Given the description of an element on the screen output the (x, y) to click on. 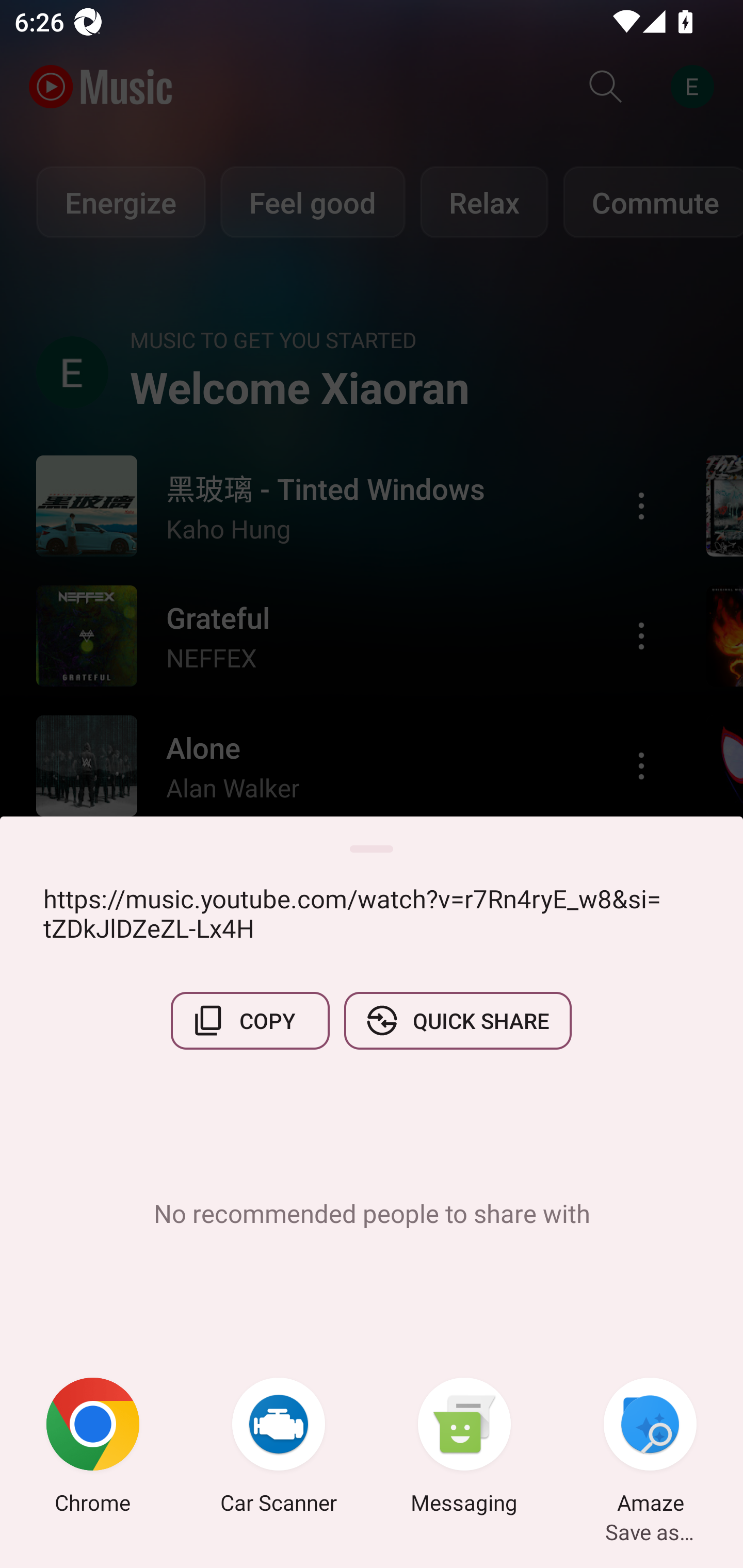
COPY (249, 1020)
QUICK SHARE (457, 1020)
Chrome (92, 1448)
Car Scanner (278, 1448)
Messaging (464, 1448)
Amaze Save as… (650, 1448)
